Given the description of an element on the screen output the (x, y) to click on. 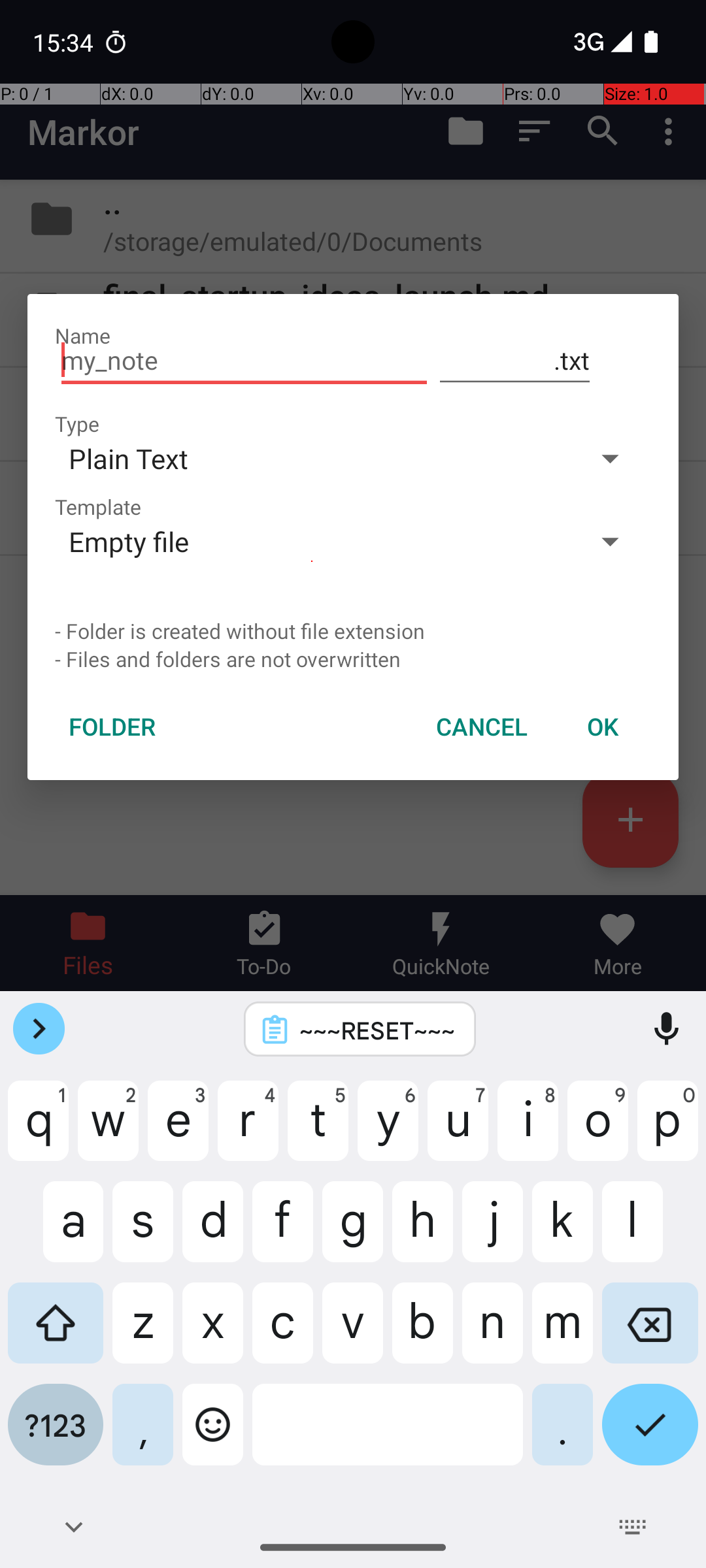
.txt Element type: android.widget.EditText (514, 360)
